Given the description of an element on the screen output the (x, y) to click on. 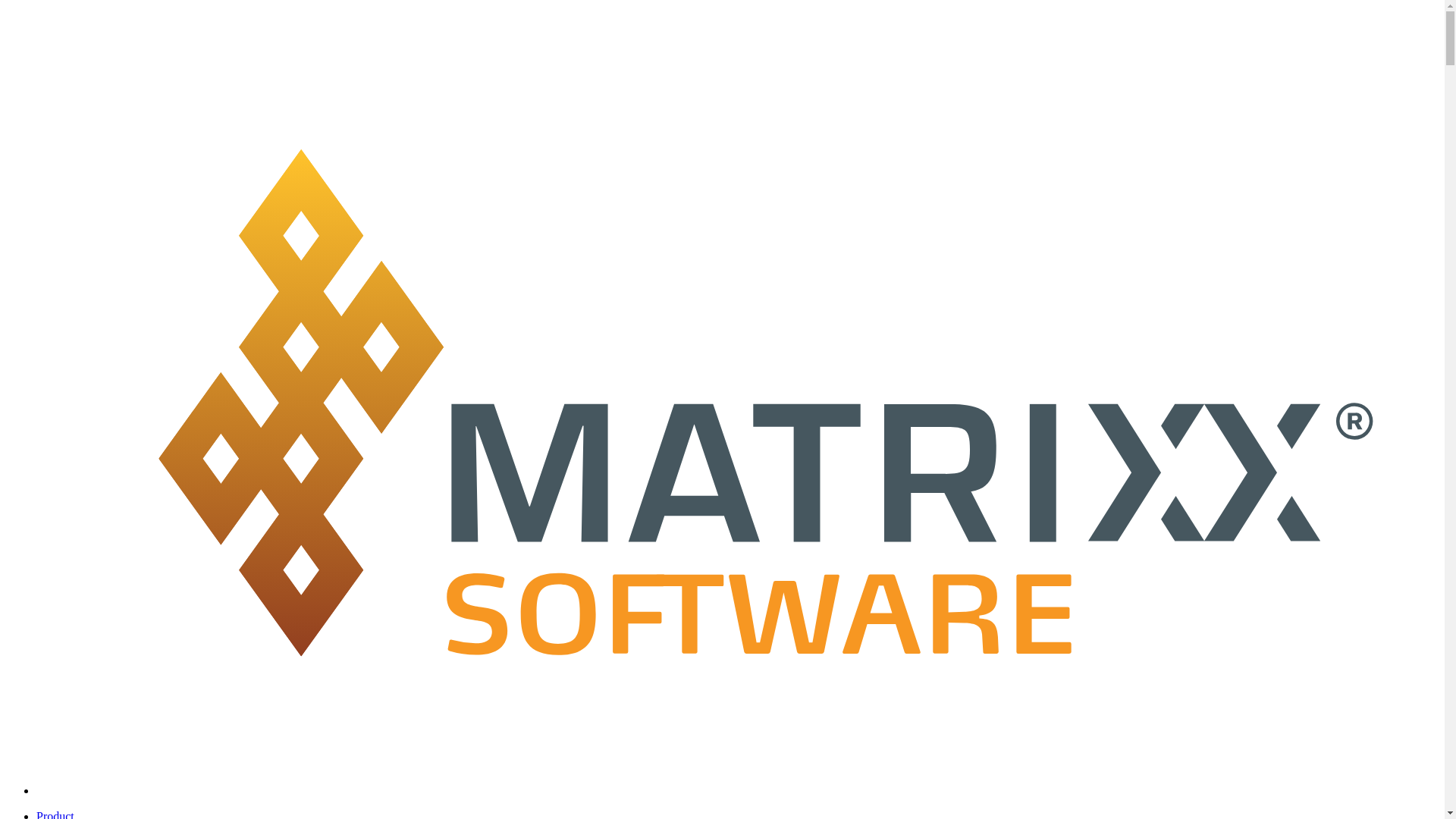
Product (55, 814)
